Given the description of an element on the screen output the (x, y) to click on. 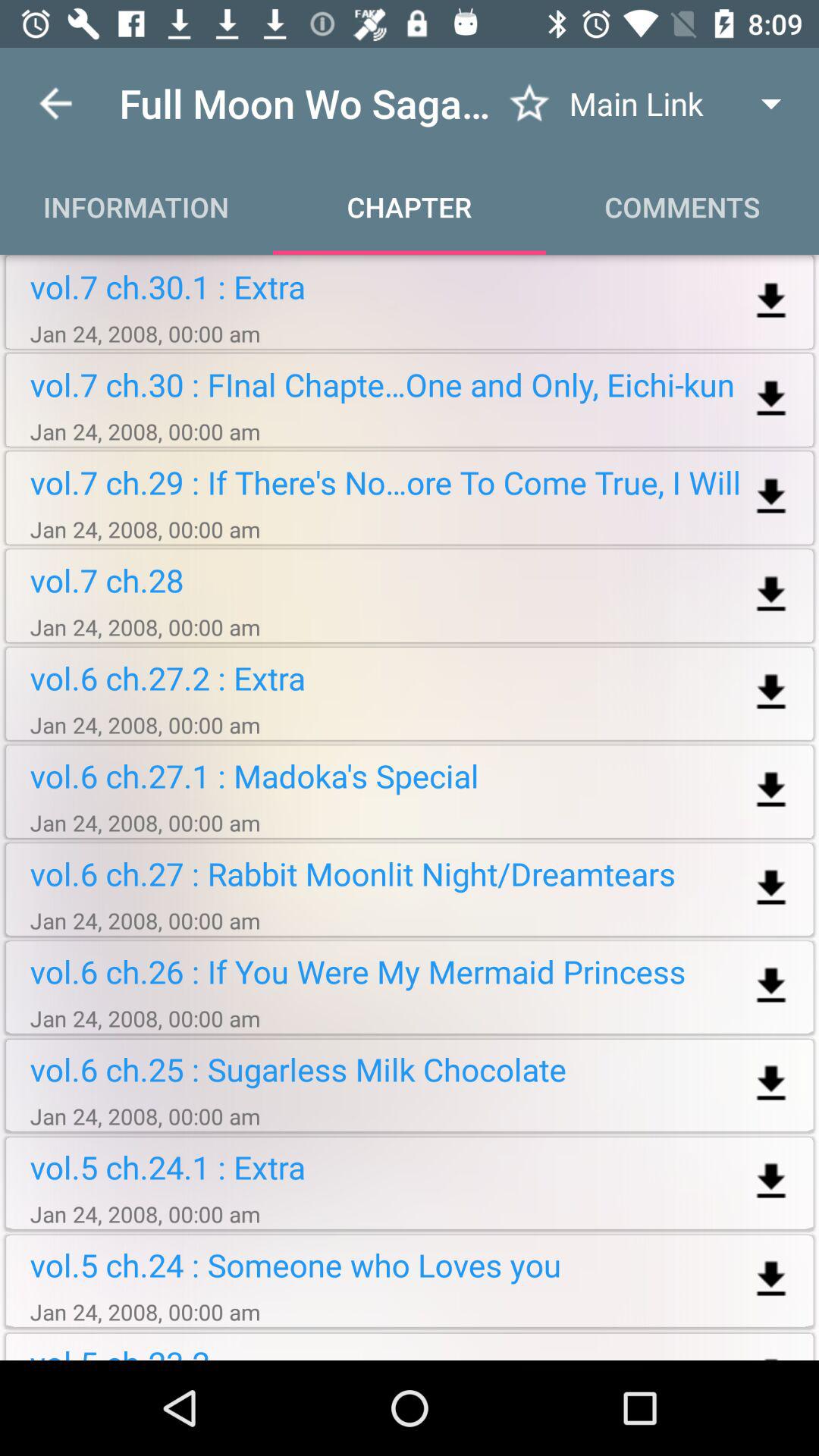
download (771, 594)
